Given the description of an element on the screen output the (x, y) to click on. 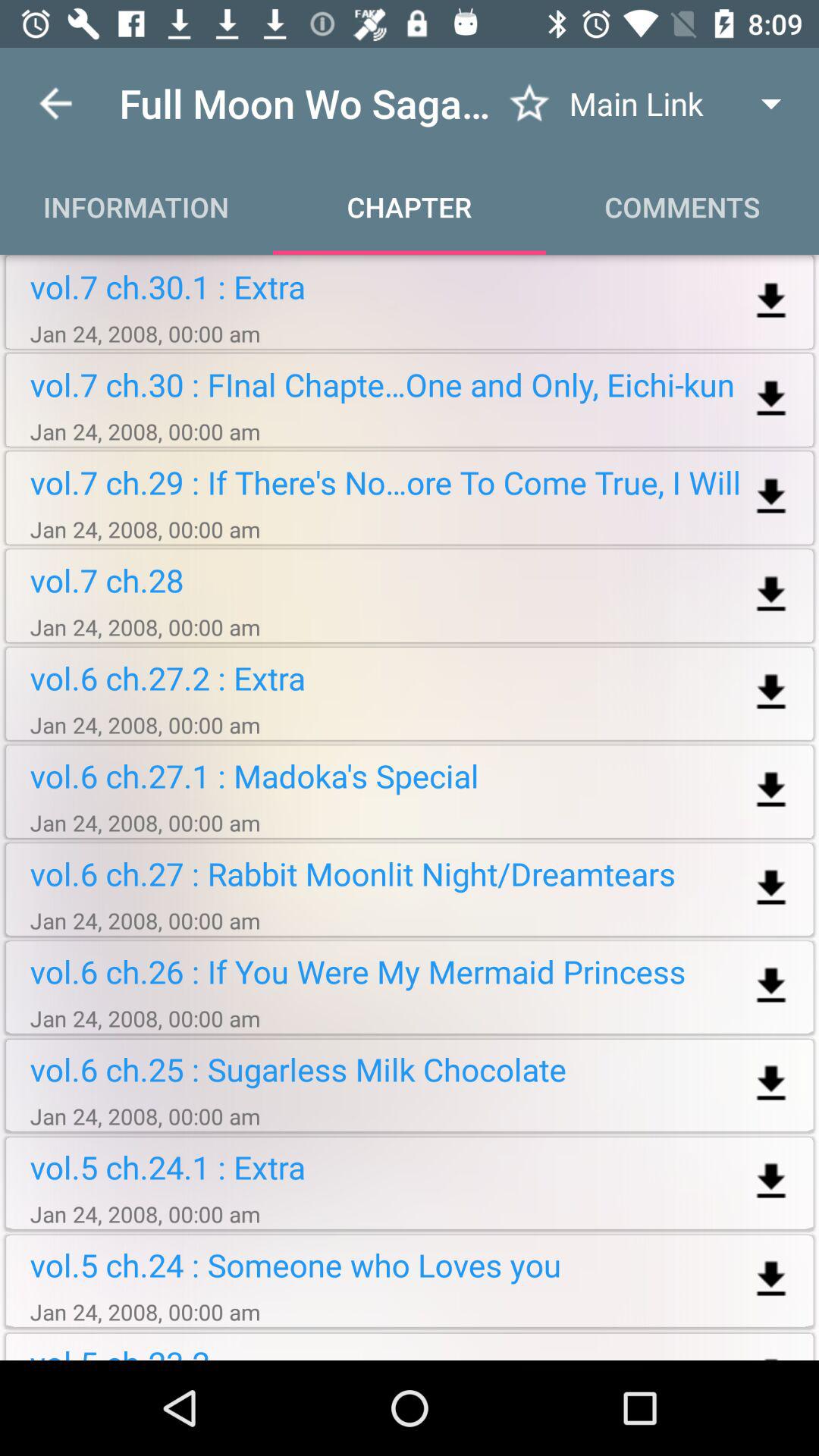
download (771, 594)
